Given the description of an element on the screen output the (x, y) to click on. 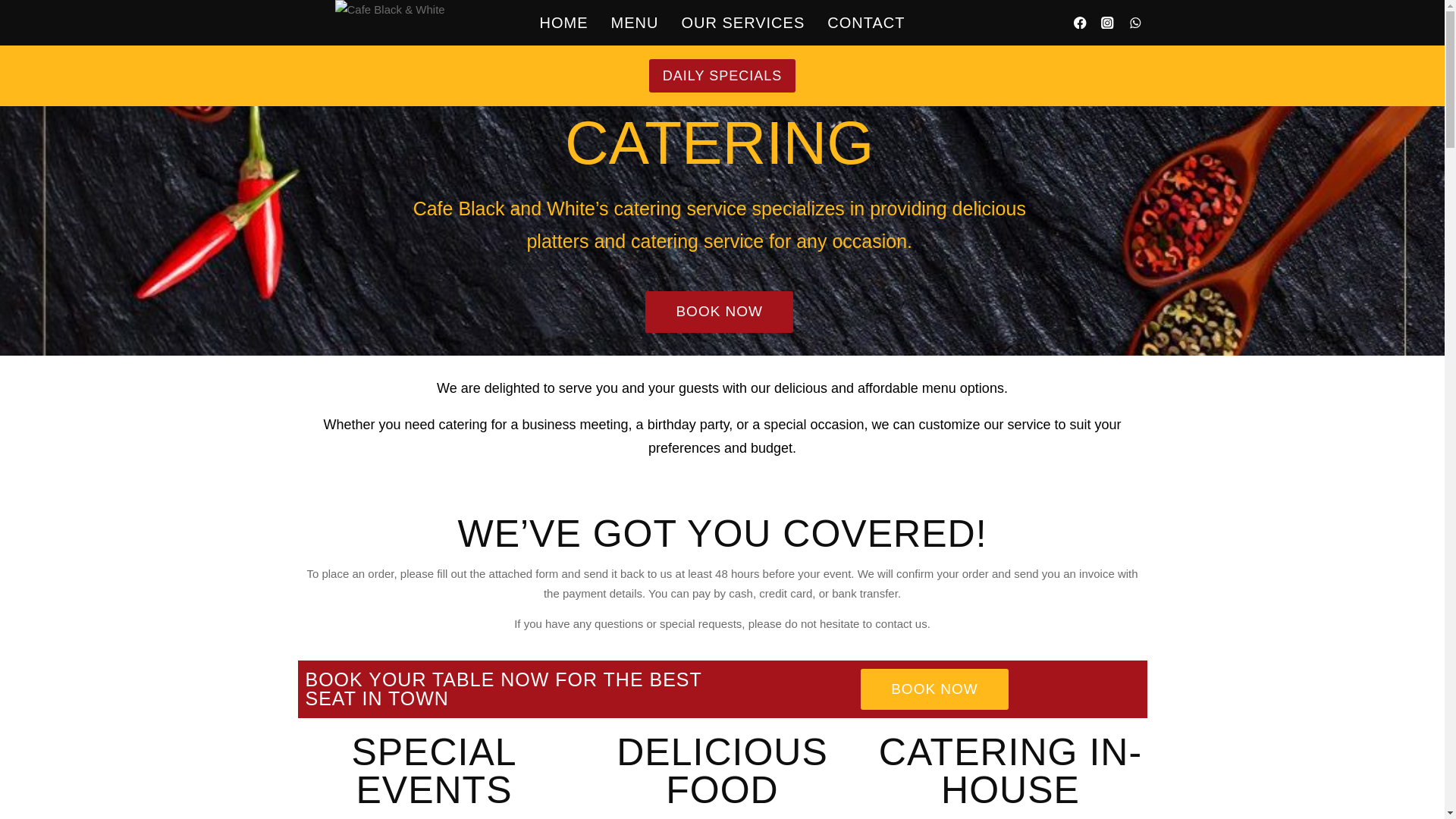
BOOK NOW (934, 689)
DAILY SPECIALS (721, 74)
OUR SERVICES (742, 22)
MENU (634, 22)
HOME (563, 22)
BOOK NOW (719, 311)
CONTACT (865, 22)
